Given the description of an element on the screen output the (x, y) to click on. 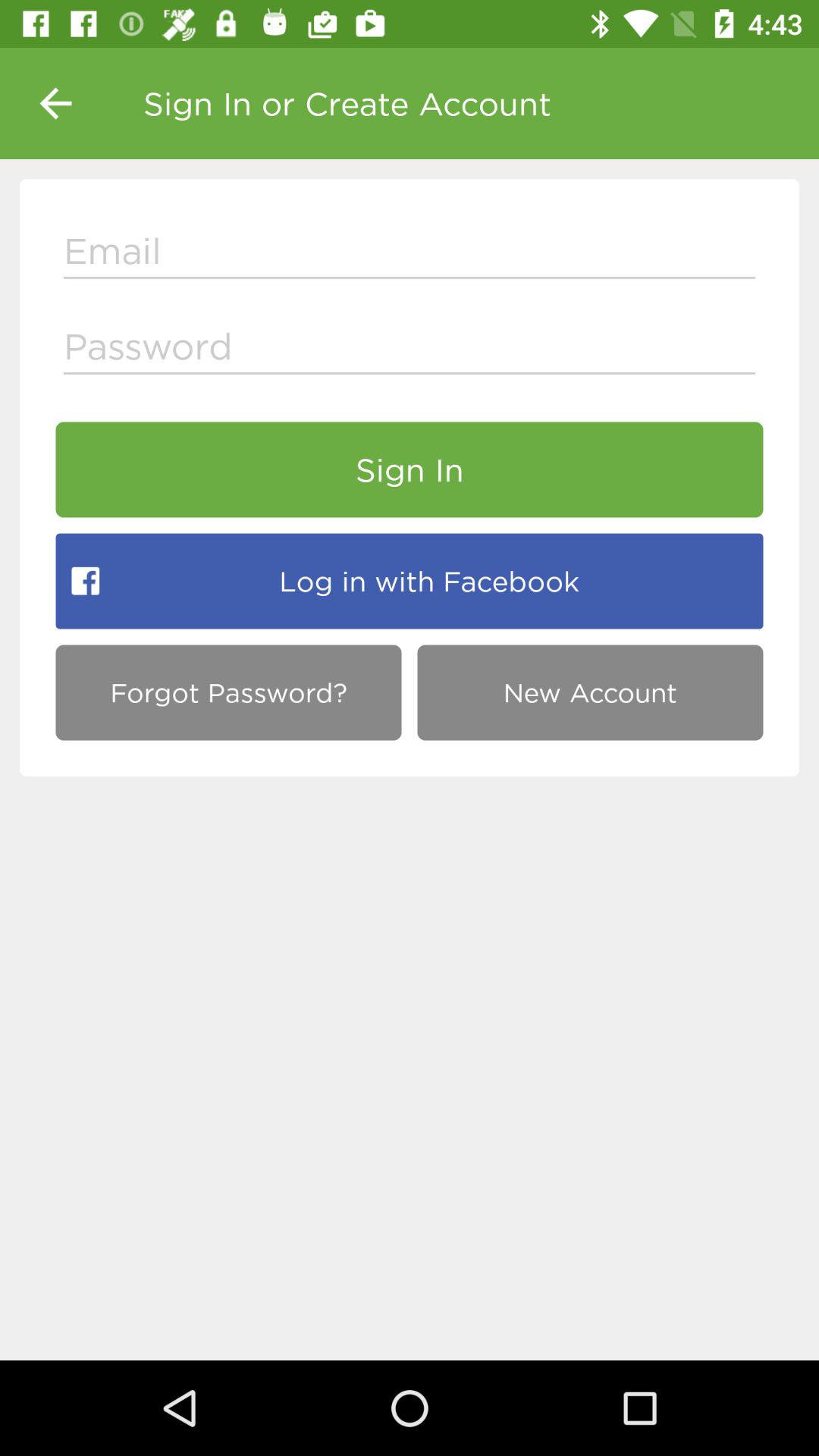
enter e-mail address (409, 254)
